Given the description of an element on the screen output the (x, y) to click on. 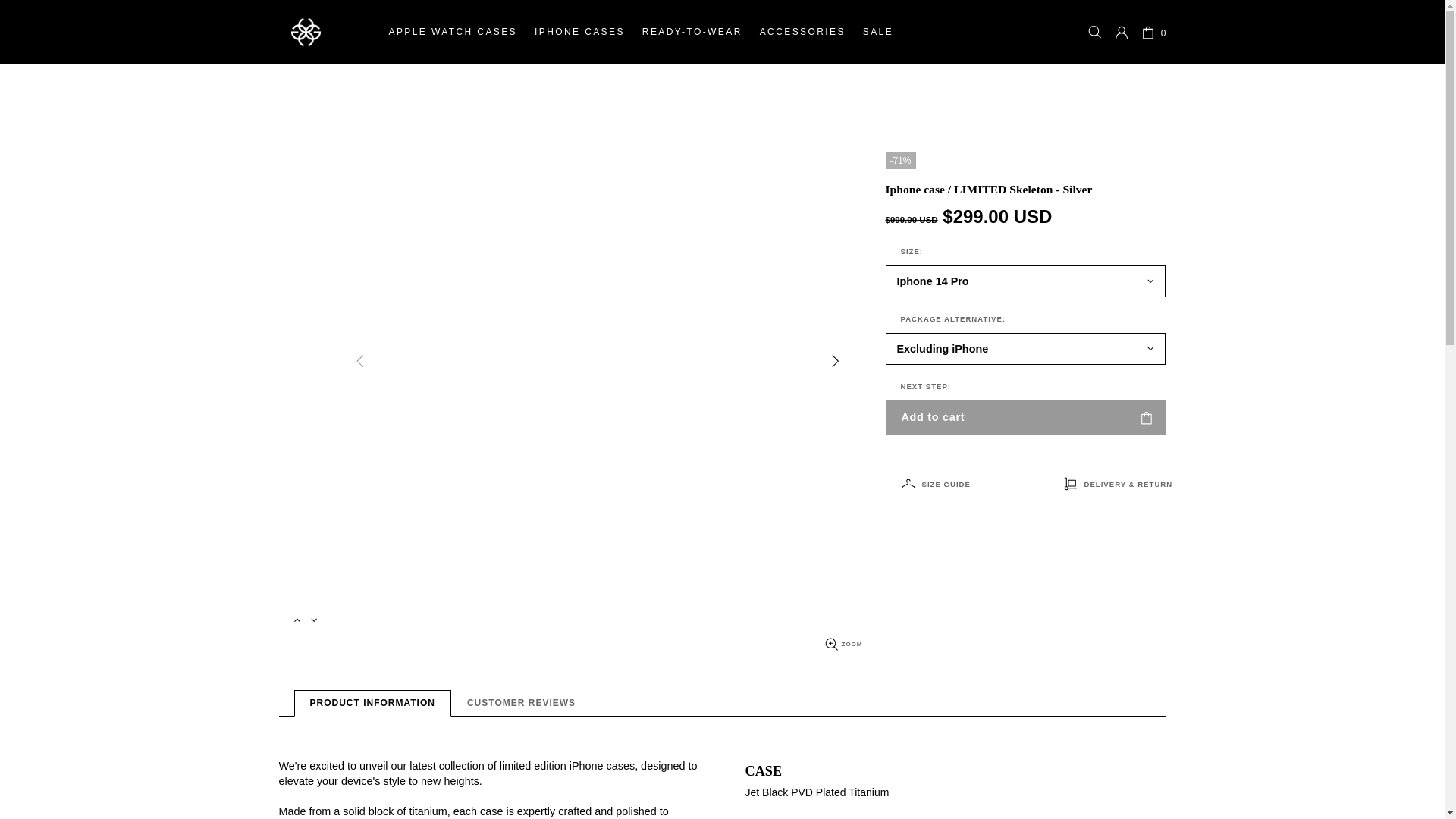
IPHONE CASES (579, 32)
GOLDEN CONCEPT (305, 32)
APPLE WATCH CASES (452, 32)
READY-TO-WEAR (692, 32)
ACCESSORIES (802, 32)
